Given the description of an element on the screen output the (x, y) to click on. 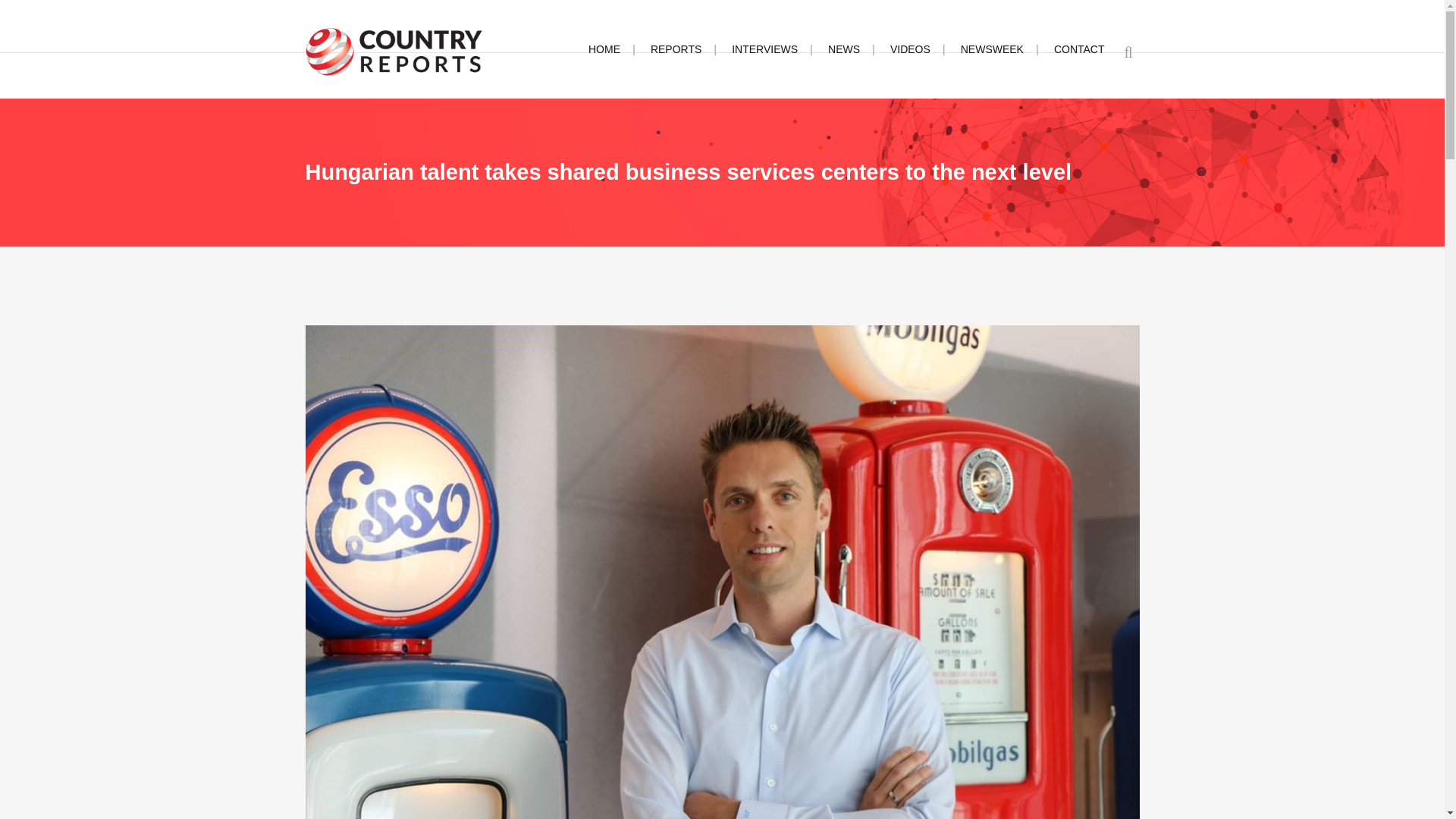
NEWSWEEK (991, 49)
INTERVIEWS (763, 49)
